Given the description of an element on the screen output the (x, y) to click on. 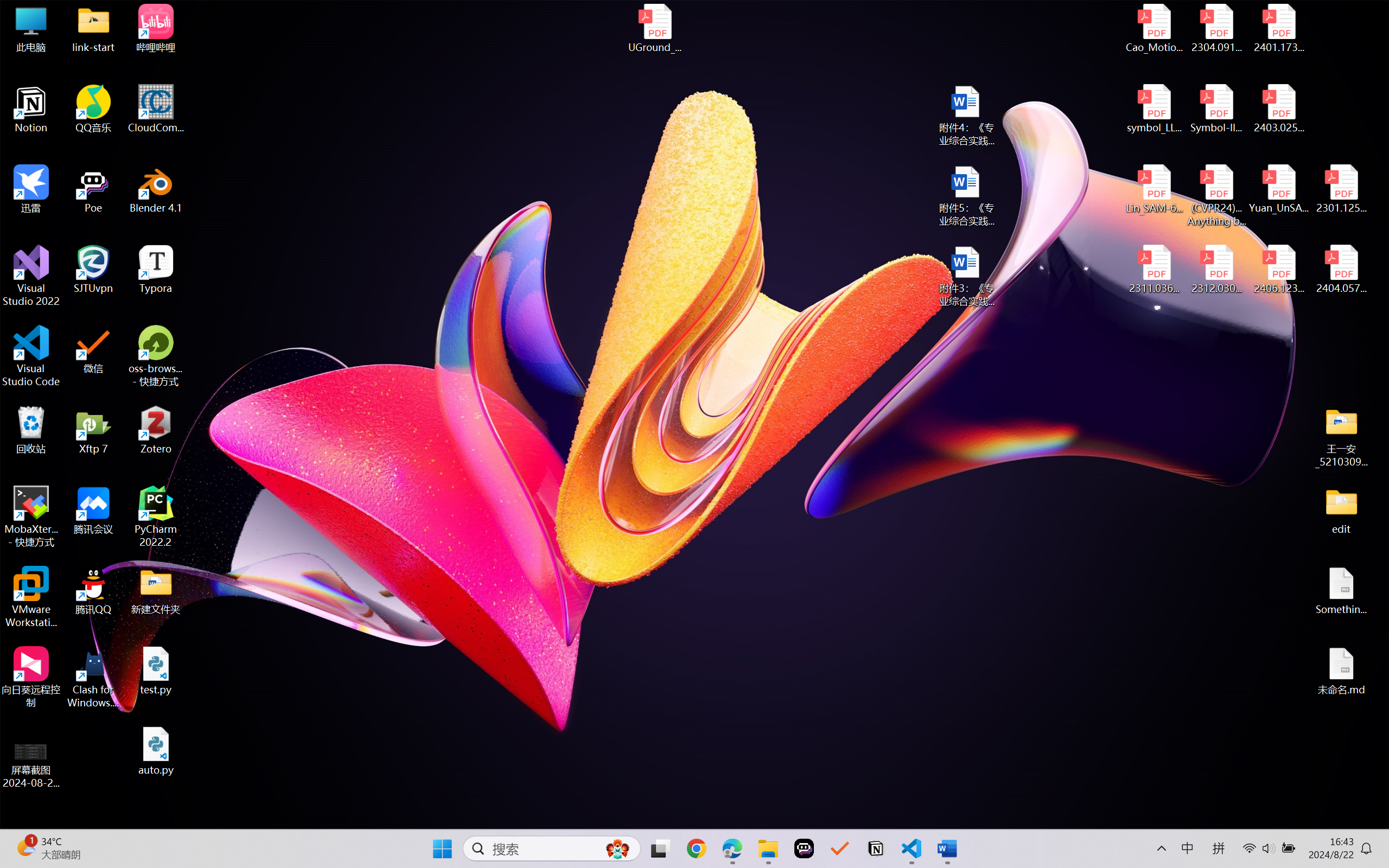
Google Chrome (696, 848)
VMware Workstation Pro (31, 597)
2406.12373v2.pdf (1278, 269)
2403.02502v1.pdf (1278, 109)
Visual Studio Code (31, 355)
